Given the description of an element on the screen output the (x, y) to click on. 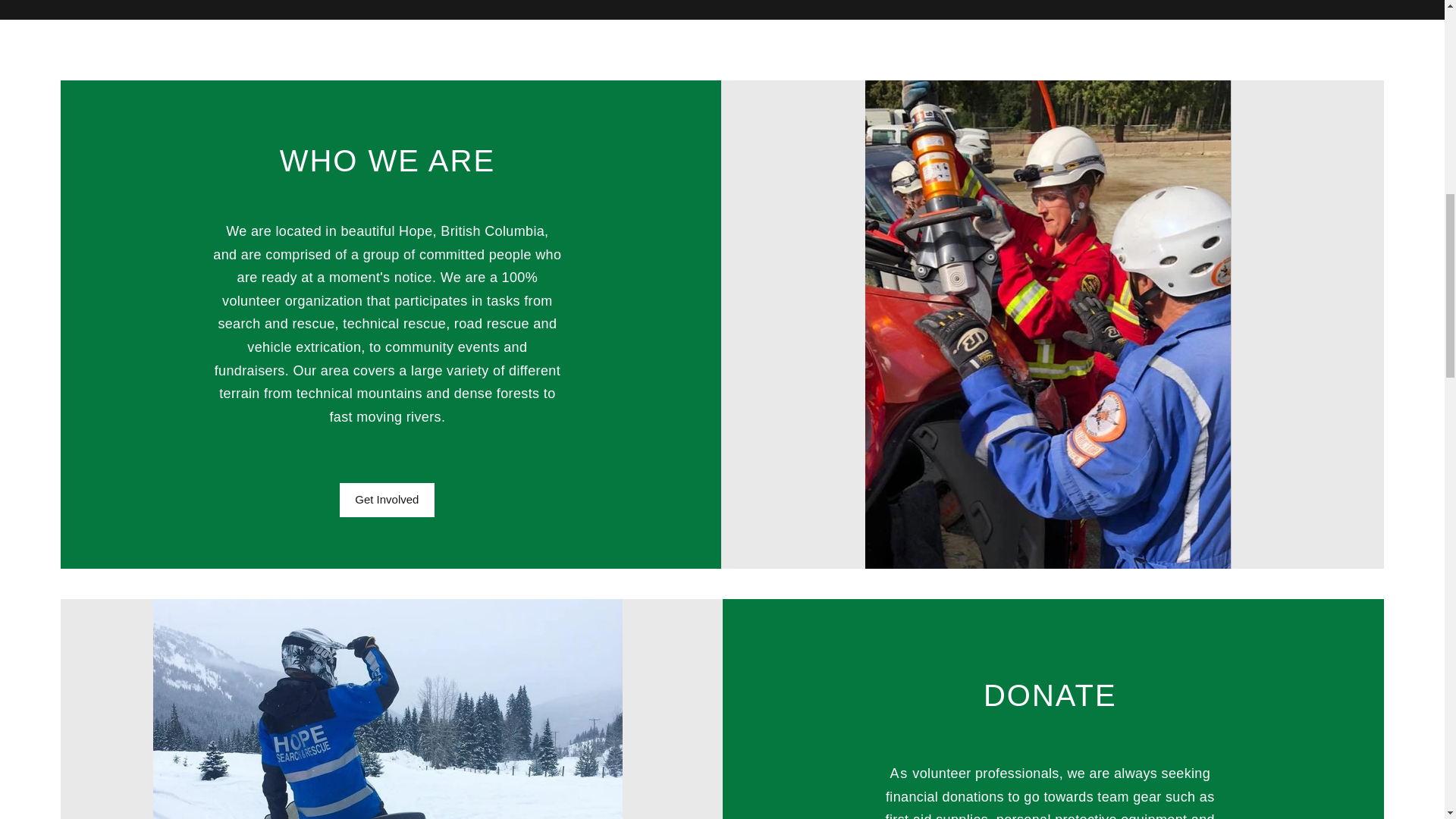
Get Involved (386, 499)
